Given the description of an element on the screen output the (x, y) to click on. 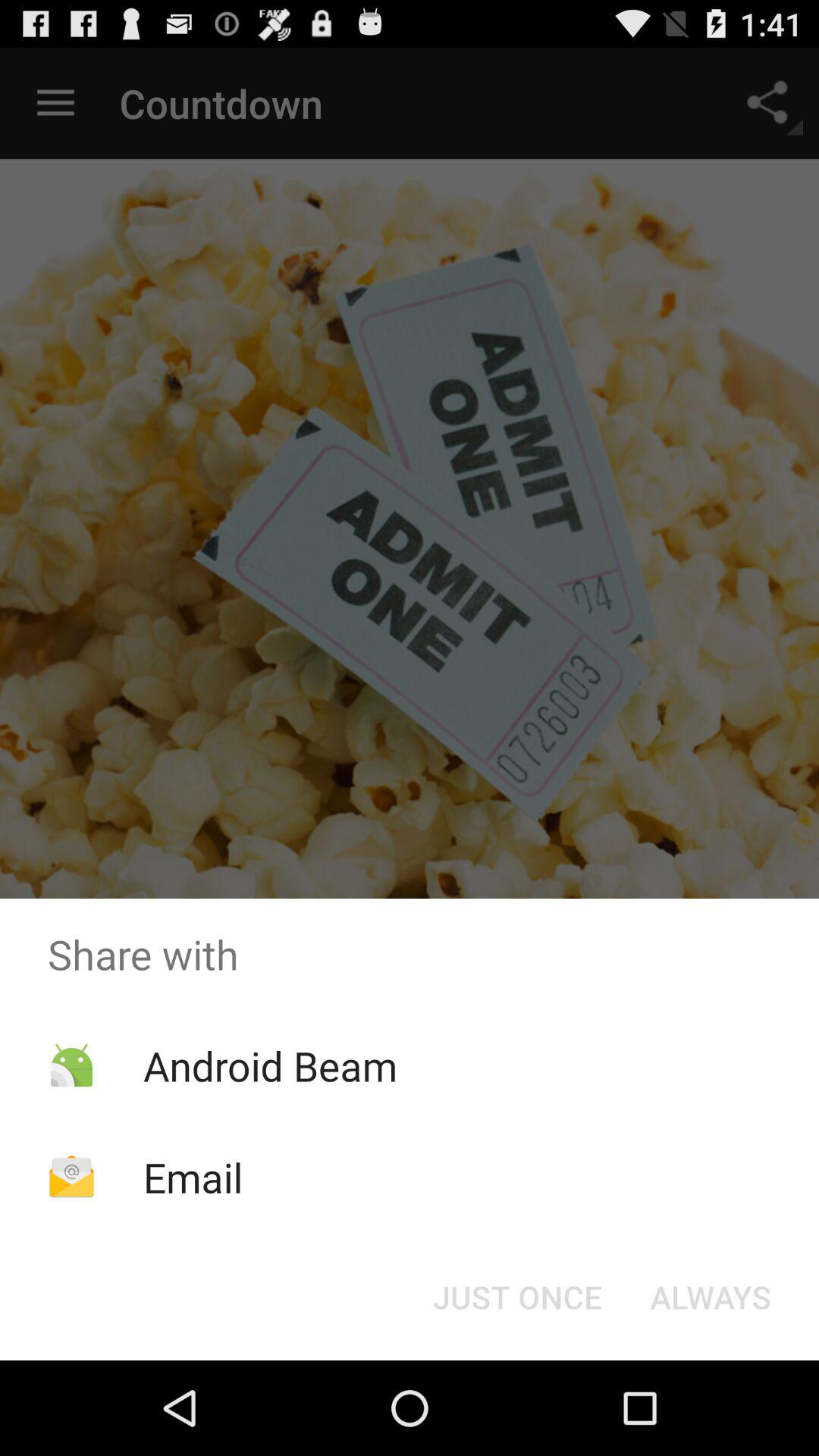
open item to the left of always icon (517, 1296)
